Given the description of an element on the screen output the (x, y) to click on. 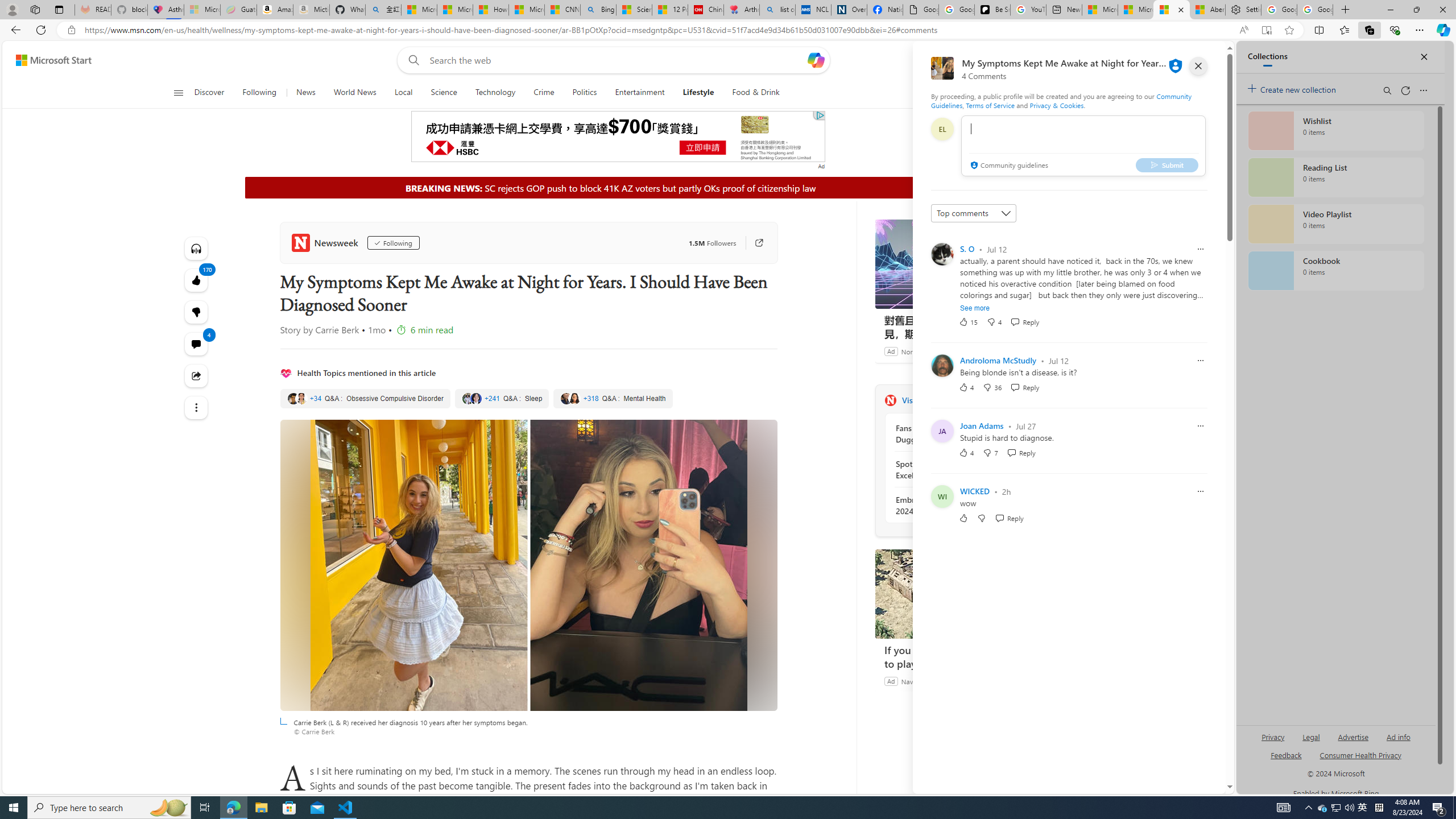
Class: qc-adchoices-link top-right  (819, 114)
170 (196, 312)
Newsweek (889, 399)
Class: quote-thumbnail (573, 398)
